Given the description of an element on the screen output the (x, y) to click on. 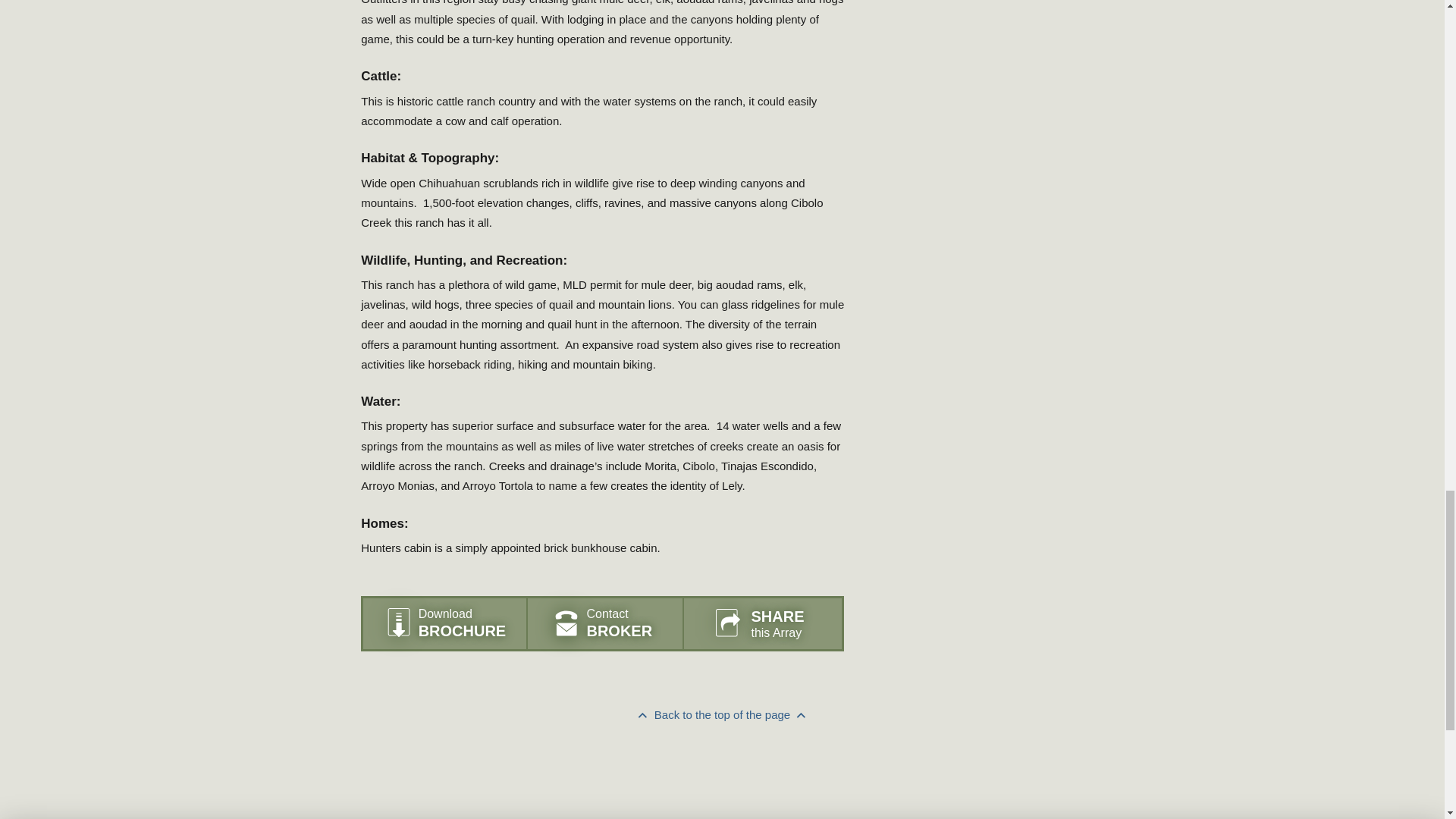
Twitter (777, 794)
Email (790, 794)
Facebook (765, 794)
